Given the description of an element on the screen output the (x, y) to click on. 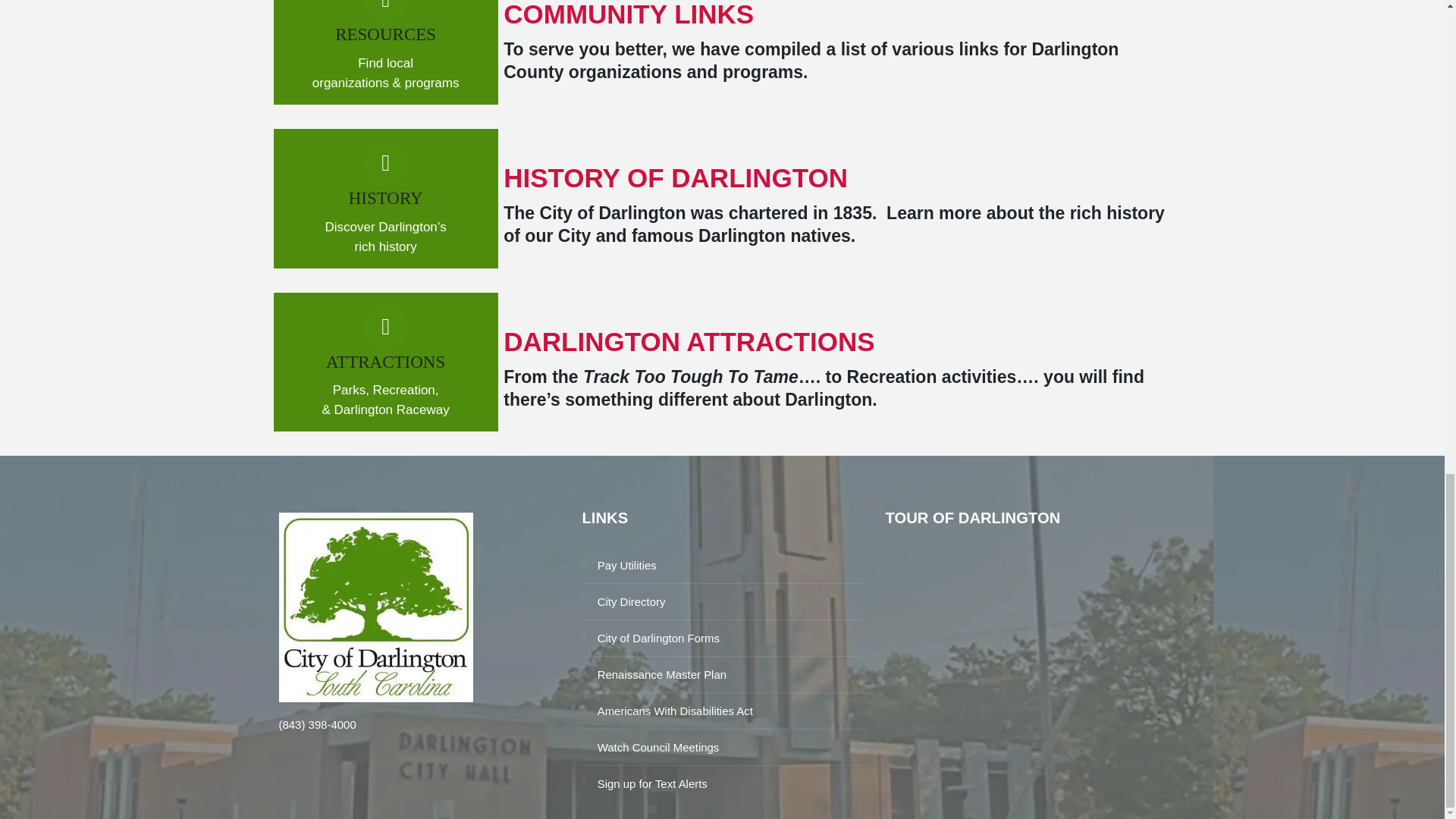
Renaissance Master Plan (720, 678)
Americans With Disabilities Act (720, 715)
Pay Utilities (720, 569)
Sign up for Text Alerts (720, 787)
ATTRACTIONS (385, 361)
City of Darlington Forms (720, 642)
HISTORY (386, 198)
RESOURCES (384, 34)
Watch Council Meetings (720, 751)
City Directory (720, 605)
